Given the description of an element on the screen output the (x, y) to click on. 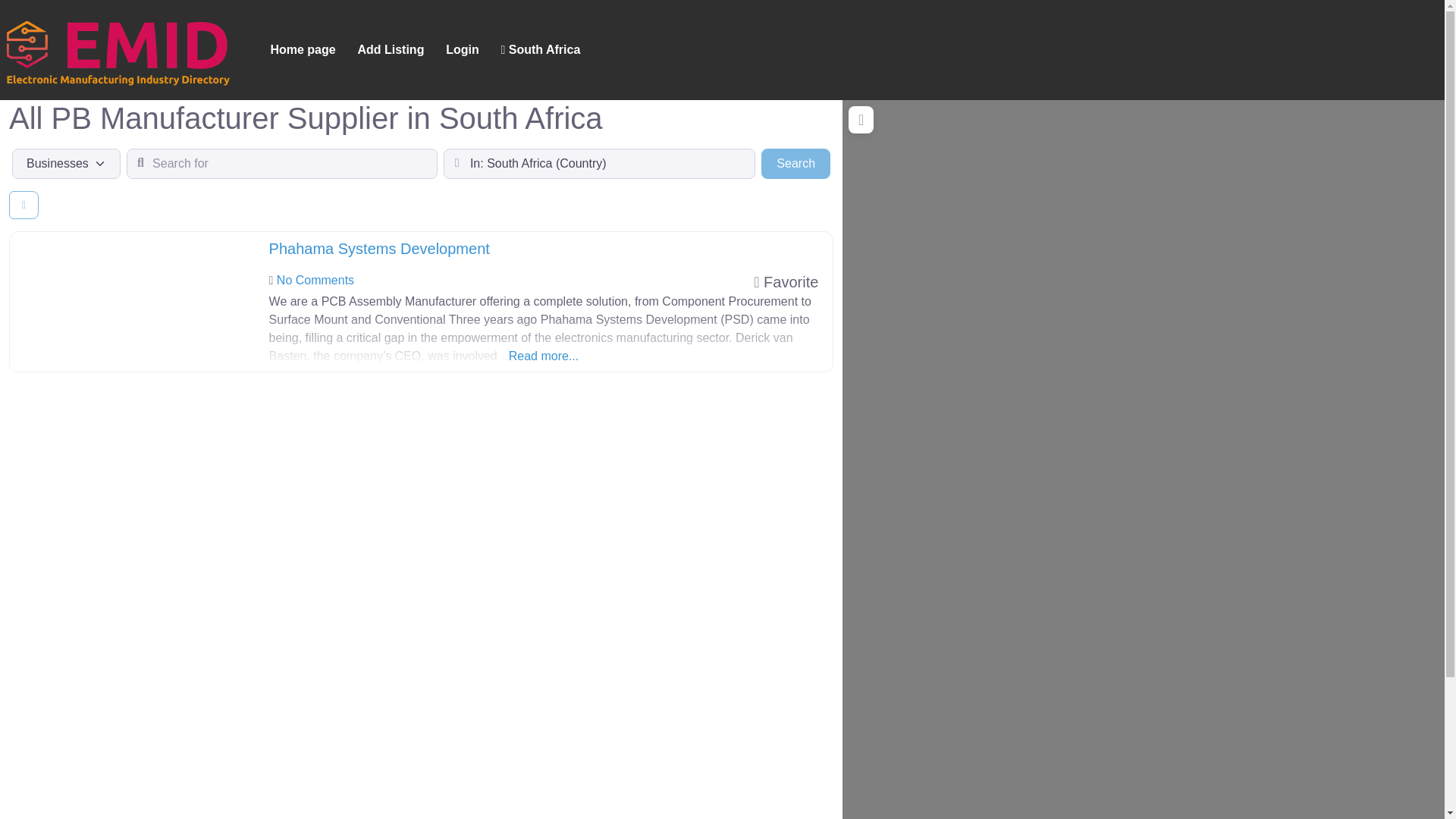
South Africa (540, 49)
No Comments (314, 279)
EMID (117, 48)
Phahama Systems Development (379, 248)
View: Phahama Systems Development (379, 248)
Add to Favorites (786, 281)
Home page (302, 49)
Login (462, 49)
Add Listing (390, 49)
